Given the description of an element on the screen output the (x, y) to click on. 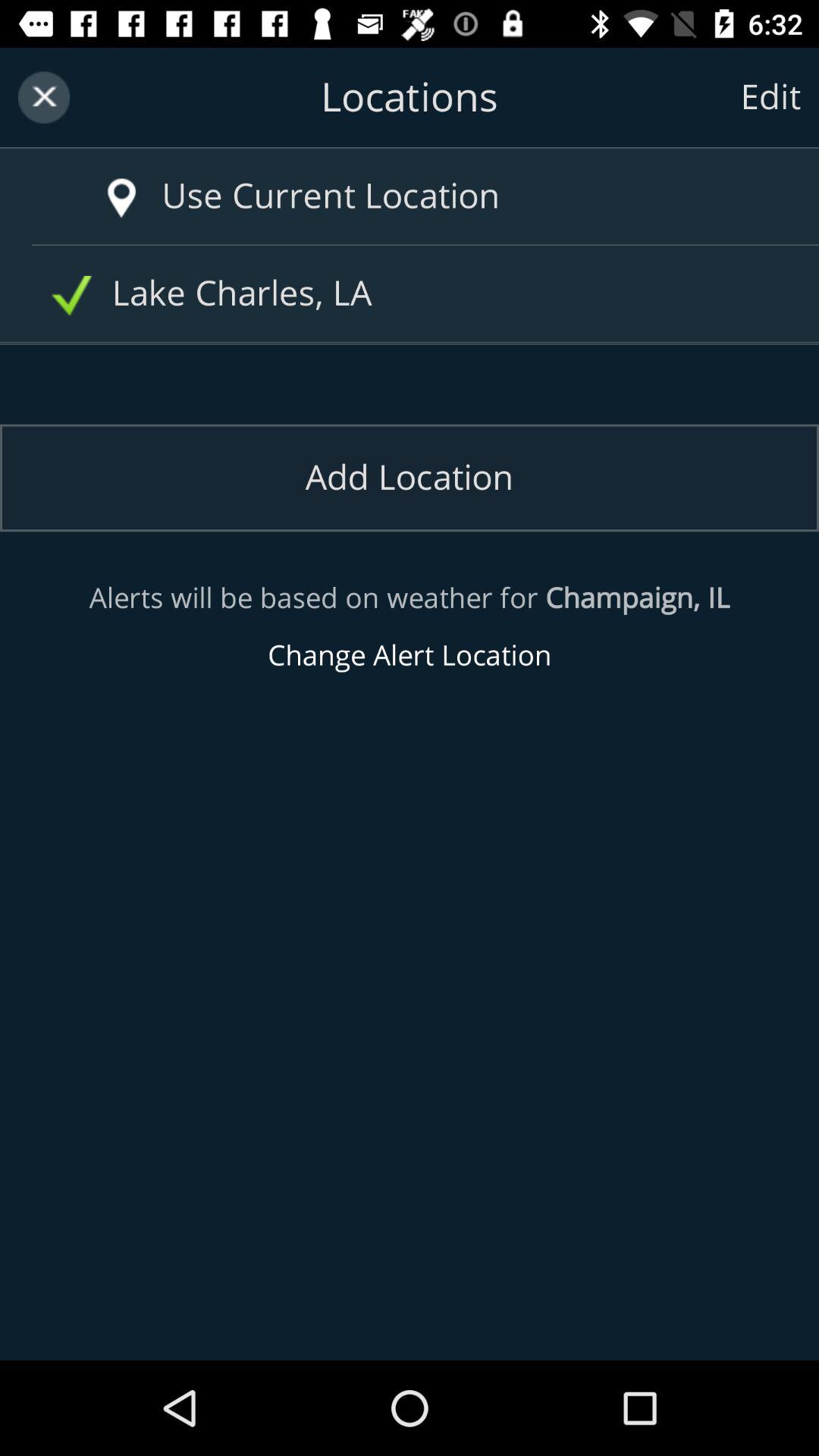
select the text which is under the text use current location (415, 294)
it is clickable (121, 198)
click on the text use current location (440, 196)
select the button which is at top right corner of page (770, 97)
click on the selected box to the left of lake charles la (71, 295)
